Given the description of an element on the screen output the (x, y) to click on. 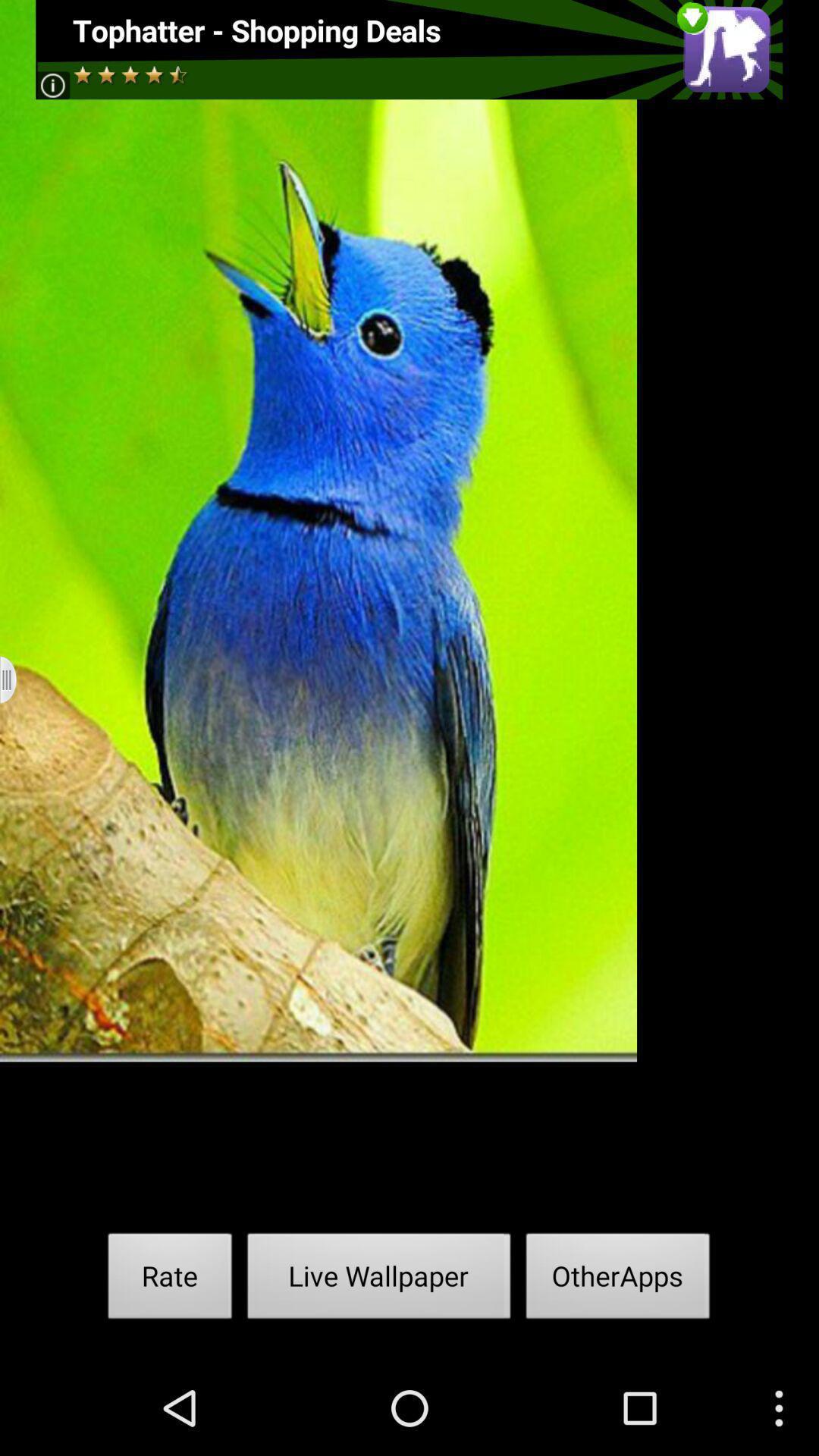
previous button (18, 679)
